Given the description of an element on the screen output the (x, y) to click on. 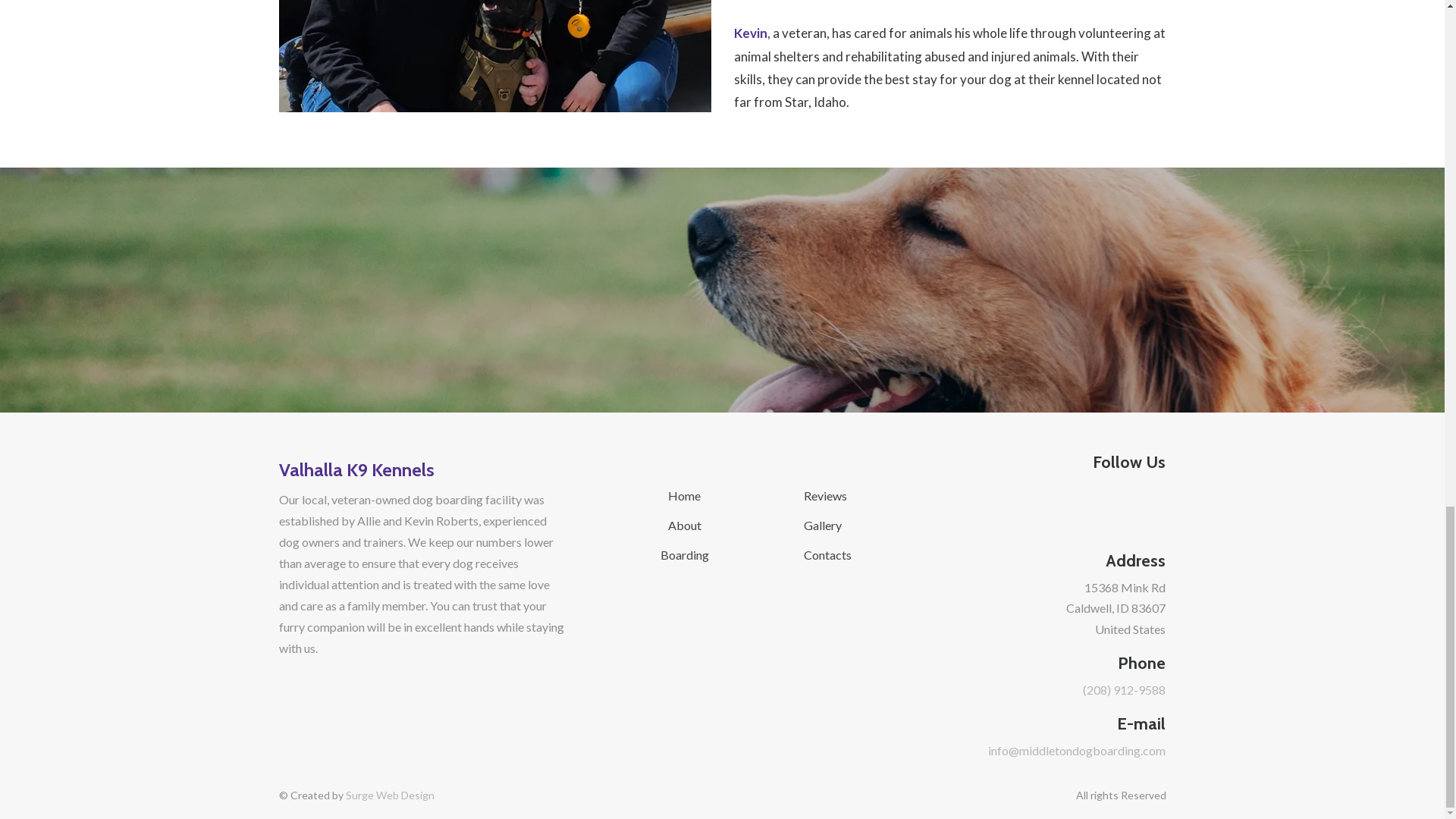
Home (684, 495)
Valhalla K9 Kennels  (422, 467)
About (684, 524)
Boarding (685, 554)
Contacts (827, 554)
Reviews (825, 495)
Gallery (822, 524)
Surge Web Design (389, 794)
